Given the description of an element on the screen output the (x, y) to click on. 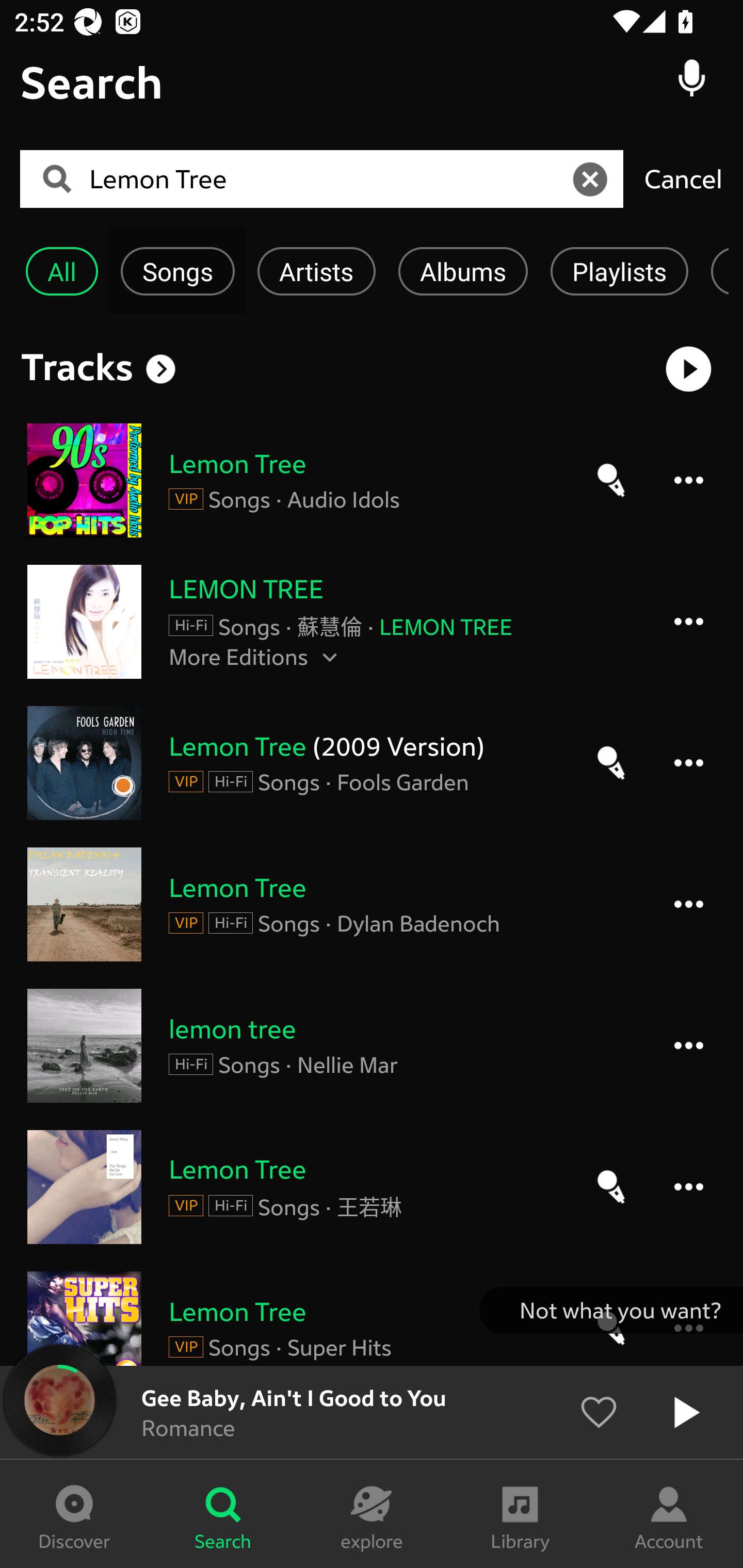
Cancel (683, 178)
Lemon Tree (327, 179)
Songs (177, 271)
Artists (316, 271)
Albums (463, 271)
Playlists (619, 271)
Tracks (77, 365)
Lemon Tree VIP Songs · Audio Idols (371, 480)
More Editions (401, 656)
Lemon Tree VIP Hi-Fi Songs · Dylan Badenoch (371, 903)
lemon tree Hi-Fi Songs · Nellie Mar (371, 1045)
Lemon Tree VIP Hi-Fi Songs · 王若琳 (371, 1186)
Lemon Tree VIP Songs · Super Hits (371, 1318)
Gee Baby, Ain't I Good to You Romance (371, 1412)
Discover (74, 1513)
explore (371, 1513)
Library (519, 1513)
Account (668, 1513)
